Given the description of an element on the screen output the (x, y) to click on. 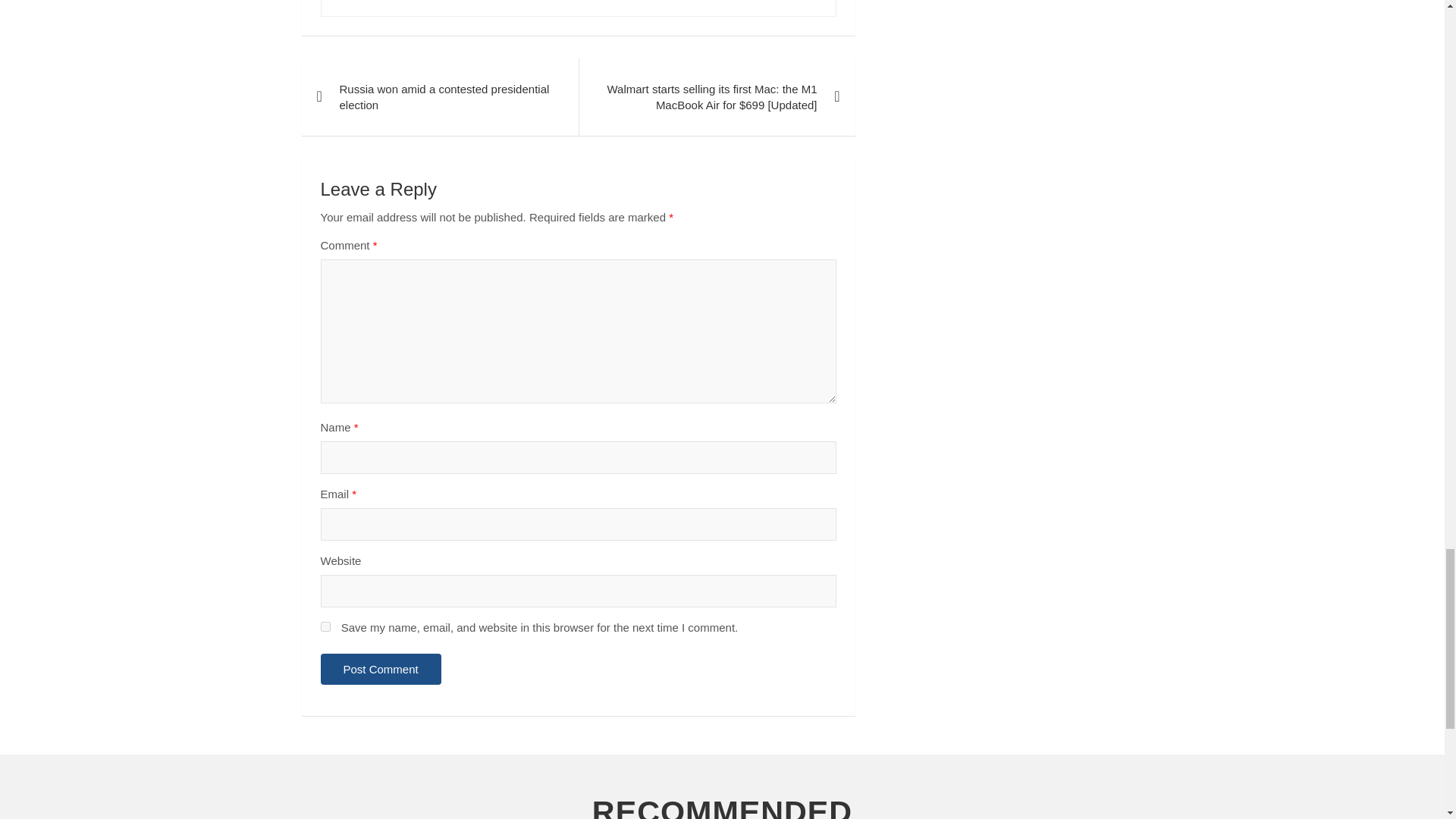
Post Comment (380, 668)
Post Comment (380, 668)
yes (325, 626)
Russia won amid a contested presidential election (439, 96)
